Given the description of an element on the screen output the (x, y) to click on. 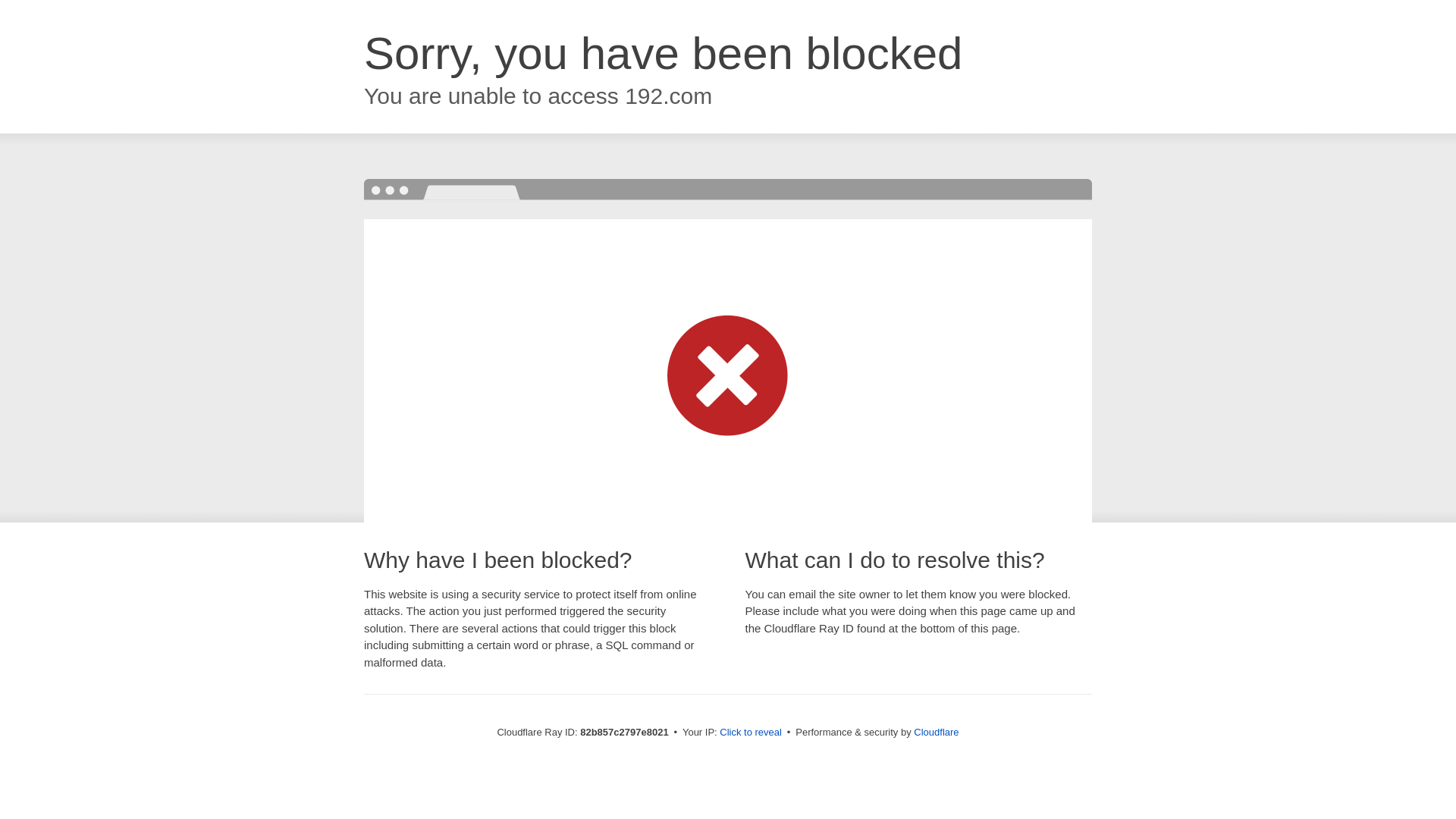
Click to reveal Element type: text (750, 732)
Cloudflare Element type: text (935, 731)
